Given the description of an element on the screen output the (x, y) to click on. 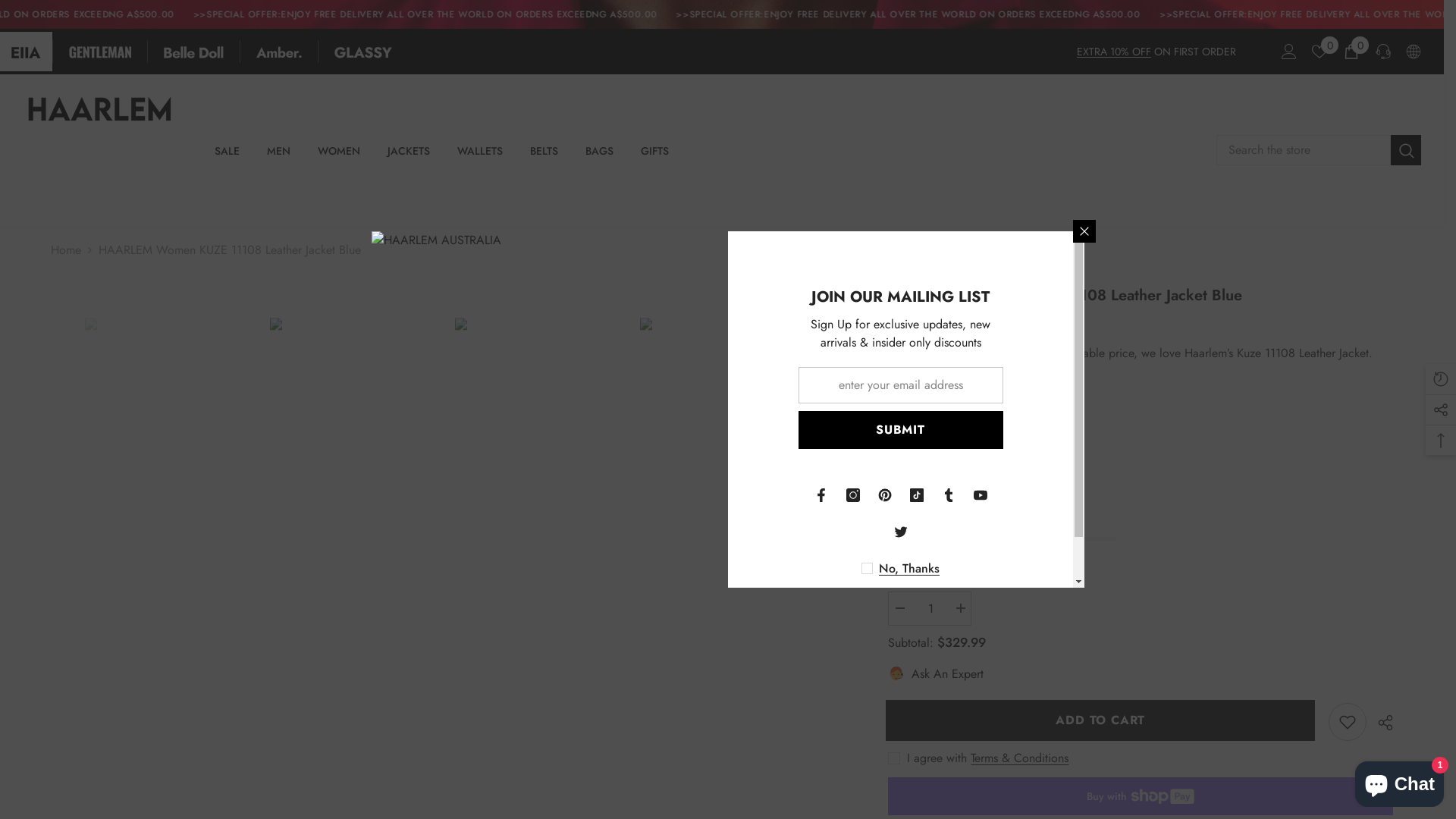
Log in Element type: text (1288, 51)
WALLETS Element type: text (479, 156)
SHARE Element type: text (1379, 722)
Terms & Conditions Element type: text (1019, 757)
MEN Element type: text (278, 156)
HAARLEM Women KUZE 11108 Leather Jacket Blue Element type: hover (169, 443)
ADD TO CART Element type: text (1102, 719)
HAARLEM Women KUZE 11108 Leather Jacket Blue Element type: hover (539, 443)
YouTube Element type: text (980, 495)
Home Element type: text (65, 250)
Shopify online store chat Element type: hover (1399, 780)
TikTok Element type: text (916, 495)
HAARLEM Women KUZE 11108 Leather Jacket Blue Element type: hover (724, 443)
SALE Element type: text (226, 156)
SUBMIT Element type: text (899, 429)
BAGS Element type: text (599, 156)
GIFTS Element type: text (654, 156)
JACKETS Element type: text (408, 156)
HAARLEM Women KUZE 11108 Leather Jacket Blue Element type: hover (354, 443)
Add to wishlist Element type: text (1347, 721)
Haarlem Australia Element type: text (983, 398)
Ask An Expert Element type: text (935, 674)
Language Currency Element type: hover (1413, 51)
Cart
0
0 items Element type: text (1351, 51)
Tumblr Element type: text (948, 495)
EXTRA 10% OFF Element type: text (1113, 51)
BELTS Element type: text (543, 156)
Twitter Element type: text (900, 531)
Facebook Element type: text (821, 495)
Instagram Element type: text (853, 495)
Pinterest Element type: text (884, 495)
WOMEN Element type: text (338, 156)
0 Element type: text (1319, 51)
